Given the description of an element on the screen output the (x, y) to click on. 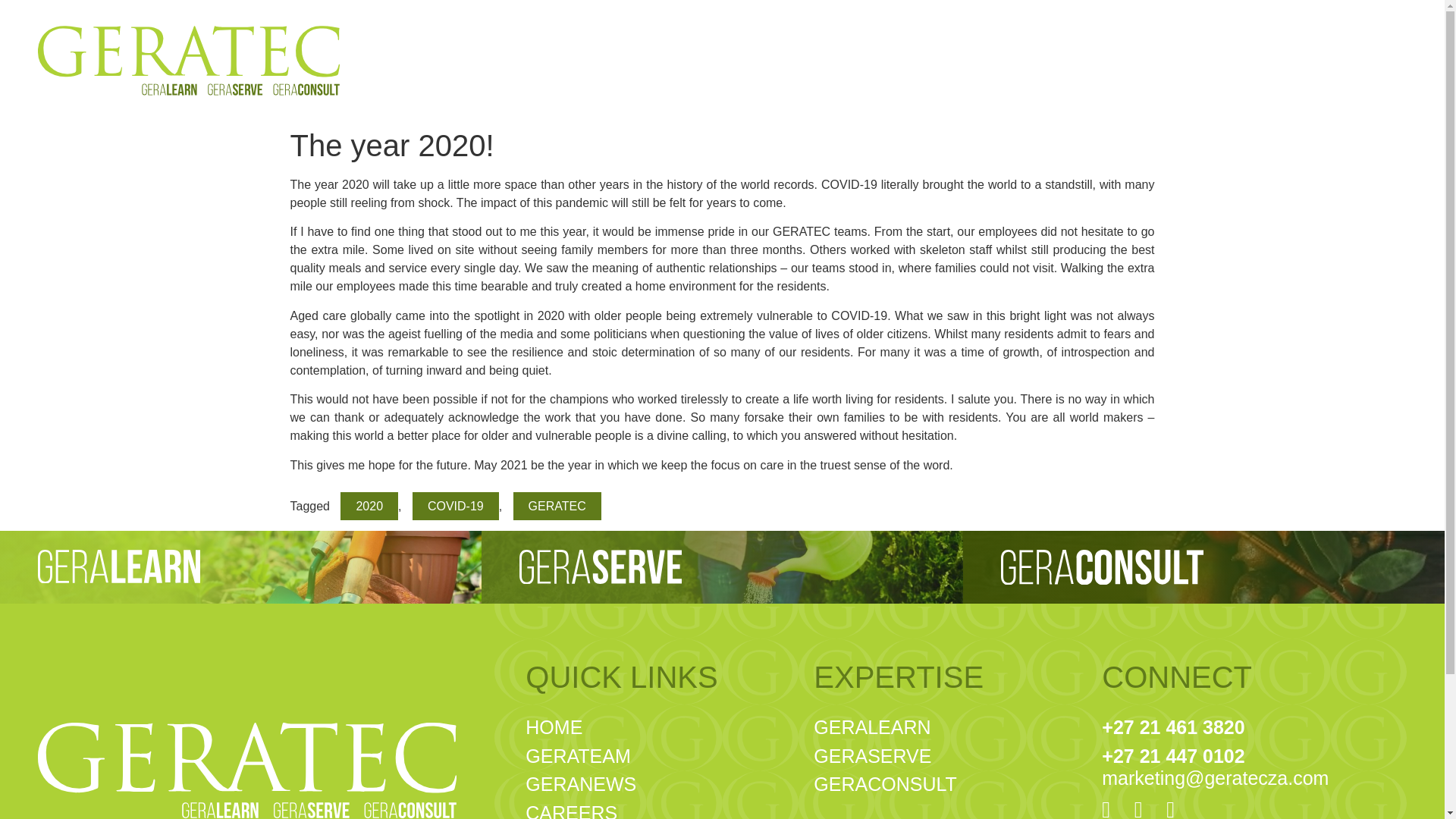
EXPERTISE (949, 677)
GERASERVE (949, 756)
CAREERS (949, 756)
HOME (661, 809)
GERANEWS (661, 727)
COVID-19 (661, 784)
2020 (455, 506)
GERALEARN (368, 506)
GERATEAM (949, 727)
